Given the description of an element on the screen output the (x, y) to click on. 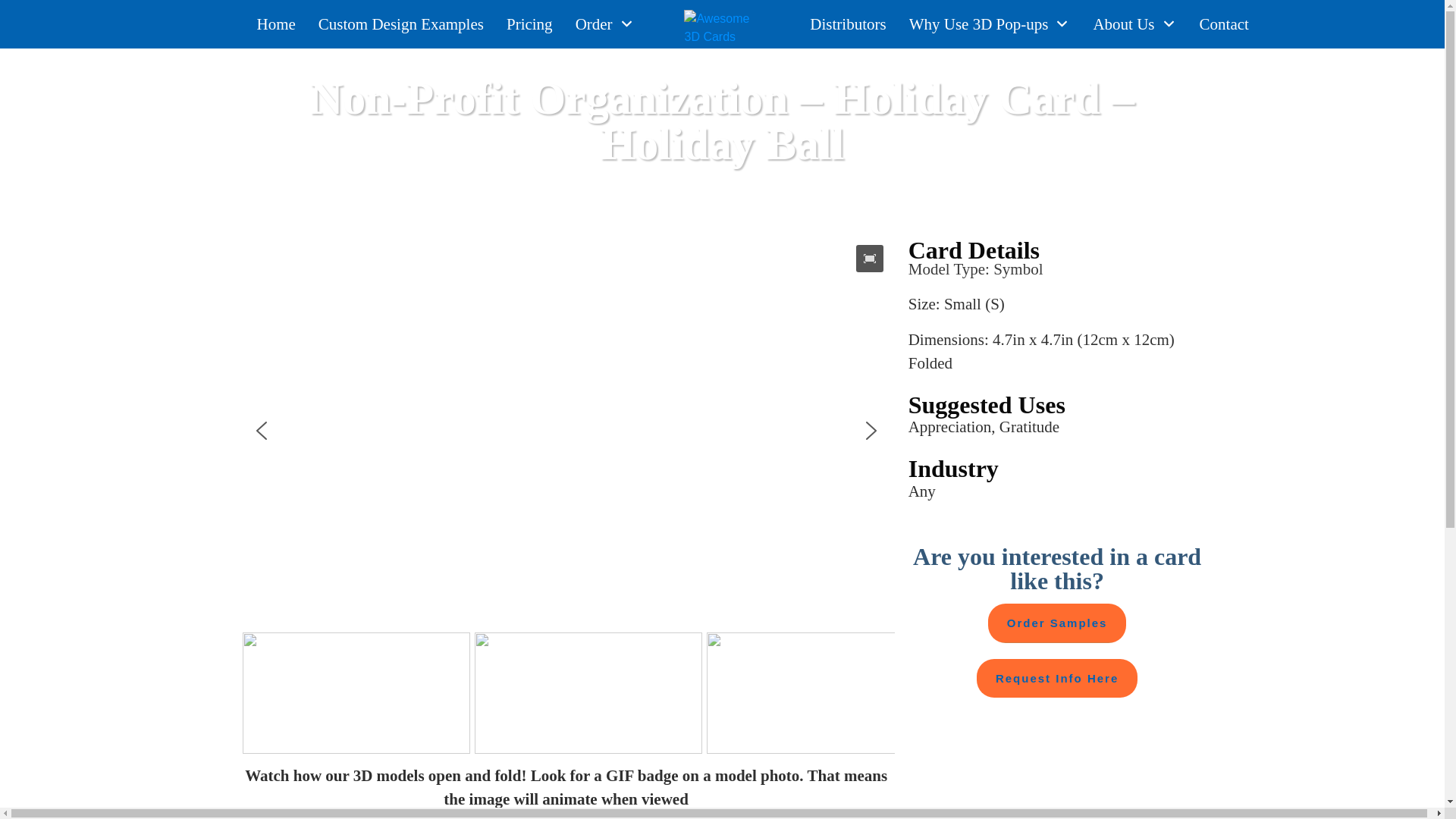
Distributors (847, 24)
Order (604, 24)
Pricing (529, 24)
Why Use 3D Pop-ups (989, 24)
Home (275, 24)
About Us (1134, 24)
Contact (1224, 24)
Custom Design Examples (400, 24)
